Given the description of an element on the screen output the (x, y) to click on. 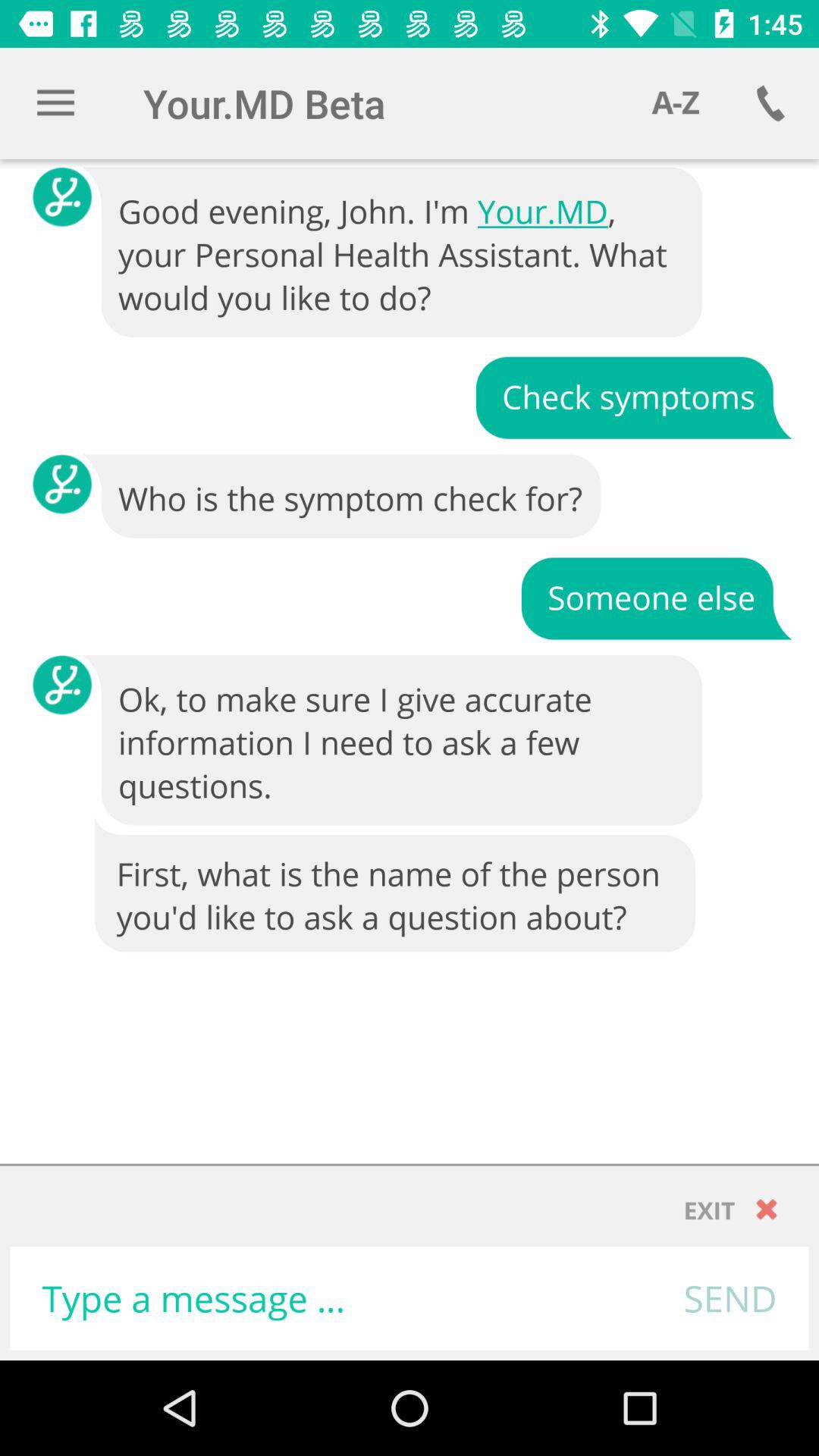
jump until send item (729, 1298)
